Given the description of an element on the screen output the (x, y) to click on. 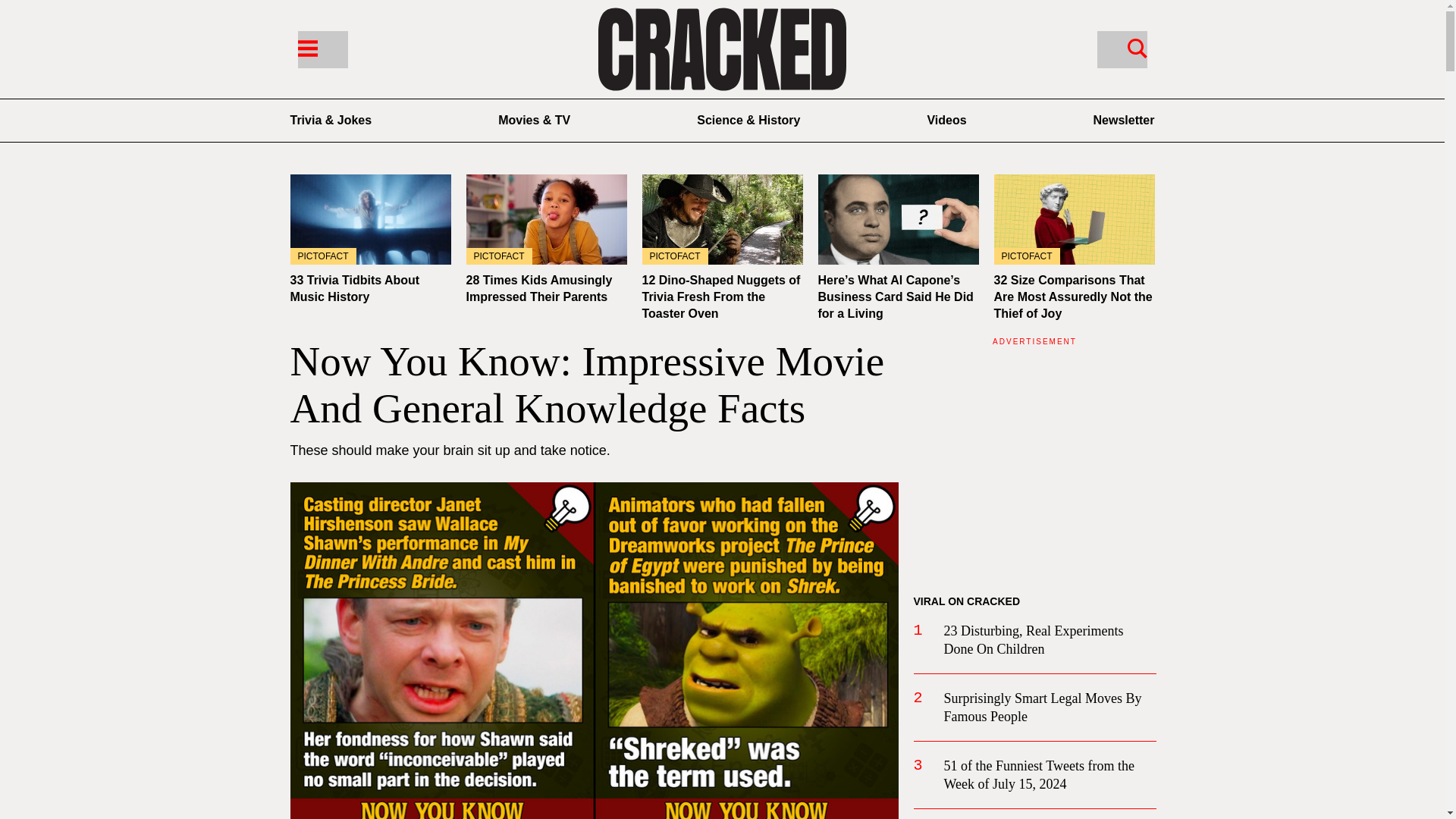
Videos (946, 119)
12 Dino-Shaped Nuggets of Trivia Fresh From the Toaster Oven (720, 296)
33 Trivia Tidbits About Music History (354, 288)
PICTOFACT (369, 219)
PICTOFACT (1073, 219)
PICTOFACT (545, 219)
Menu (307, 47)
Menu (322, 48)
Search (1121, 48)
Search (1136, 47)
Videos (946, 119)
PICTOFACT (722, 219)
33 Trivia Tidbits About Music History (369, 219)
28 Times Kids Amusingly Impressed Their Parents (538, 288)
28 Times Kids Amusingly Impressed Their Parents (545, 219)
